Given the description of an element on the screen output the (x, y) to click on. 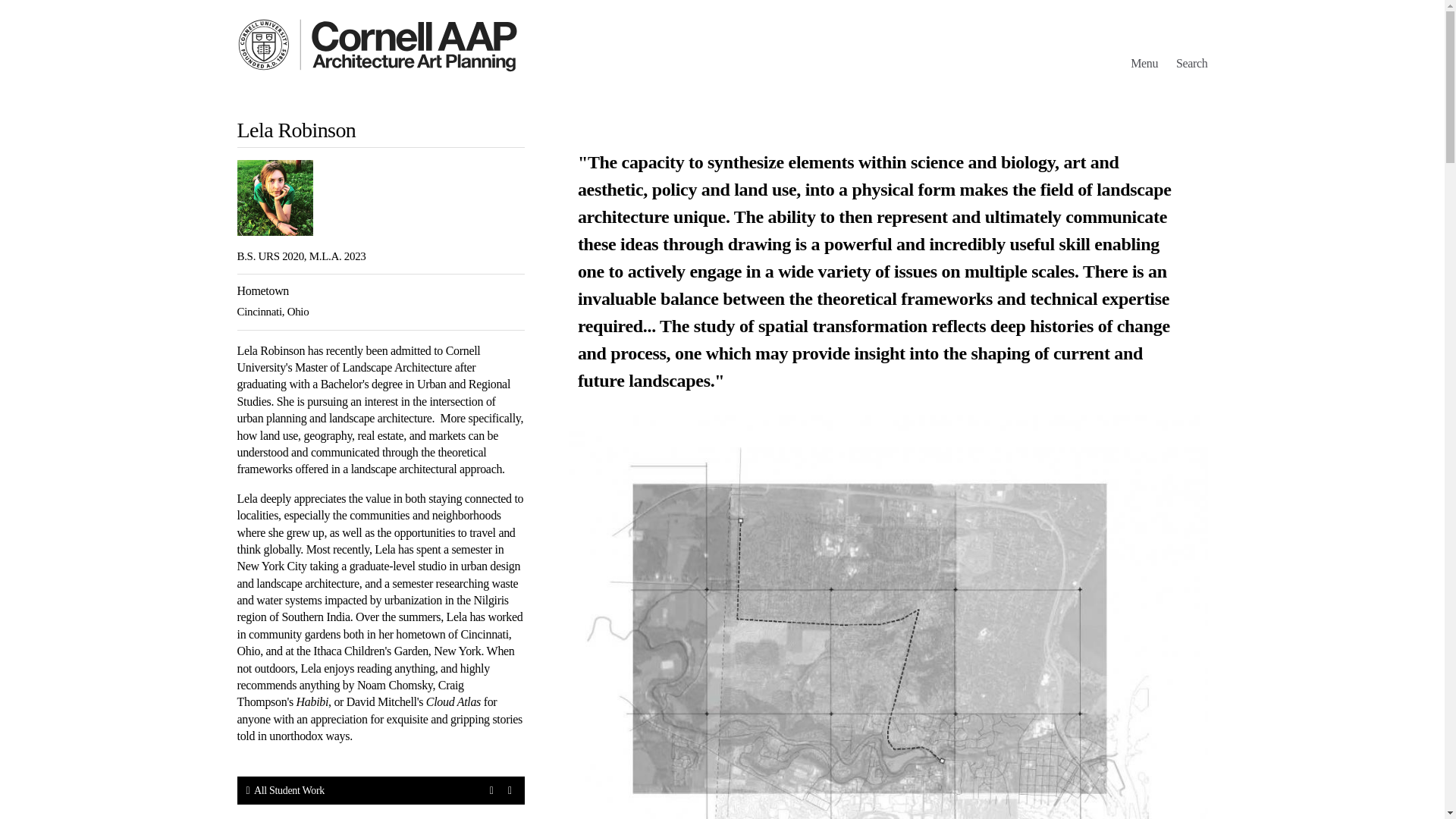
Portrait of Lela Robinson (274, 197)
 All Student Work (284, 790)
Search (1192, 62)
Menu (1144, 62)
